Given the description of an element on the screen output the (x, y) to click on. 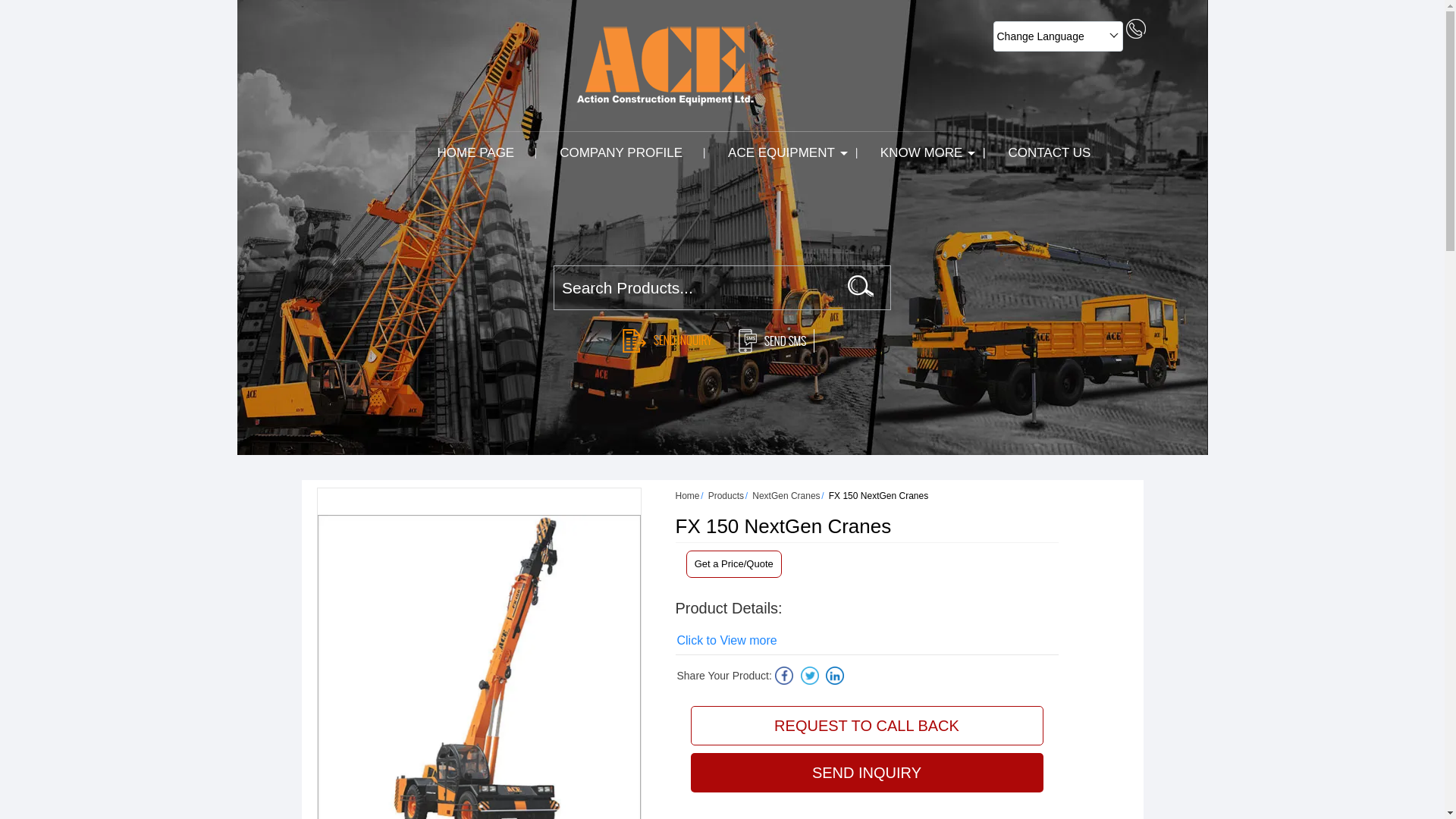
HOME PAGE (475, 152)
Action Construction Equipment Ltd. (665, 66)
Search Products... (696, 287)
Send inquiry (671, 340)
submit (860, 285)
Send SMS (771, 340)
COMPANY PROFILE (620, 152)
ACE EQUIPMENT (780, 152)
